Given the description of an element on the screen output the (x, y) to click on. 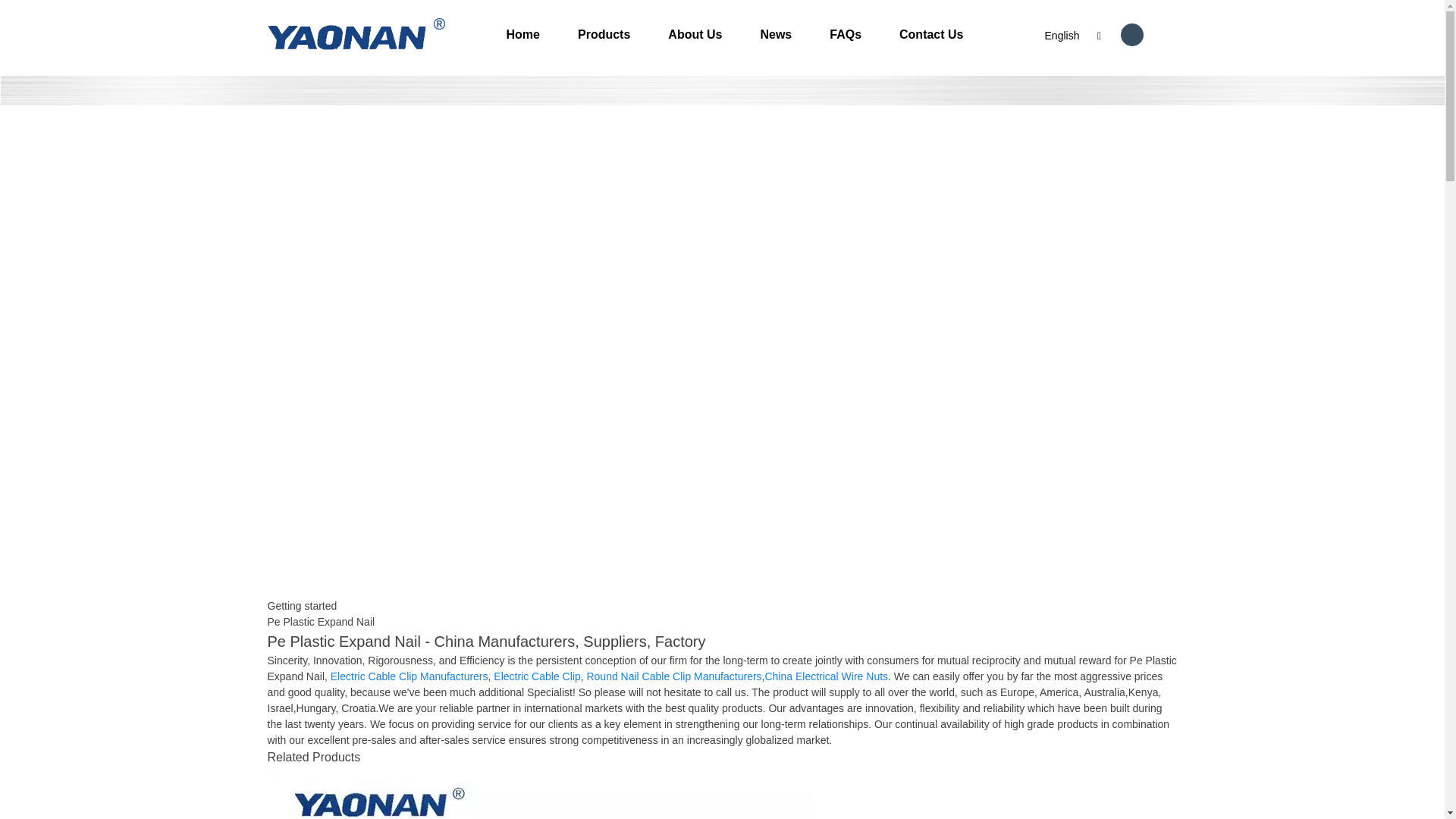
About Us (695, 34)
English (1050, 34)
Products (604, 34)
China Electrical Wire Nuts (826, 676)
China Electrical Wire Nuts (826, 676)
Round Nail Cable Clip Manufacturers (673, 676)
Electric Cable Clip (536, 676)
Round Nail Cable Clip Manufacturers (673, 676)
News (776, 34)
Electric Cable Clip (536, 676)
